Given the description of an element on the screen output the (x, y) to click on. 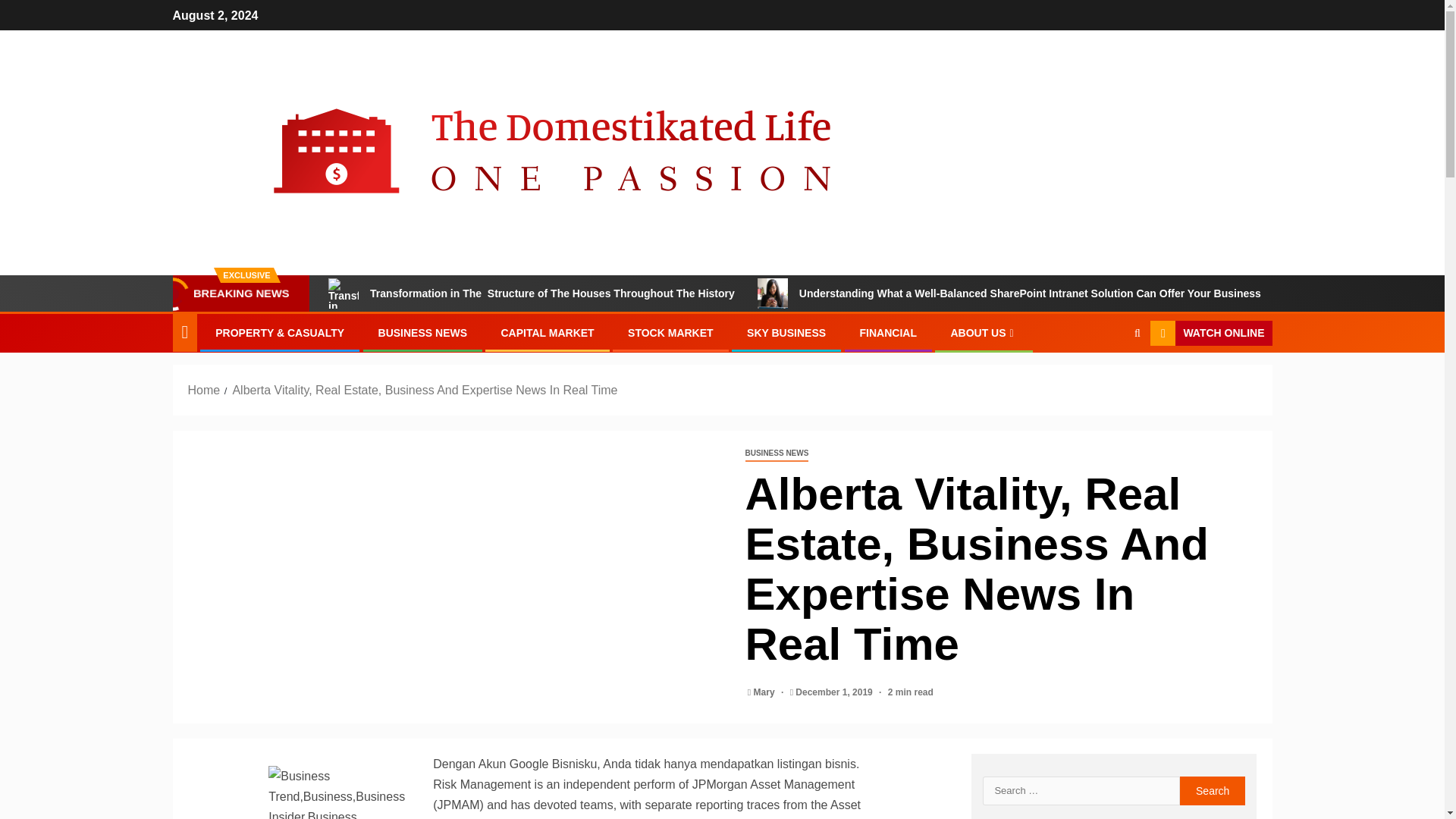
ABOUT US (983, 332)
STOCK MARKET (670, 332)
BUSINESS NEWS (422, 332)
BUSINESS NEWS (776, 453)
CAPITAL MARKET (547, 332)
Home (204, 390)
Search (1107, 379)
FINANCIAL (888, 332)
Search (1212, 790)
Mary (765, 692)
WATCH ONLINE (1210, 333)
